Given the description of an element on the screen output the (x, y) to click on. 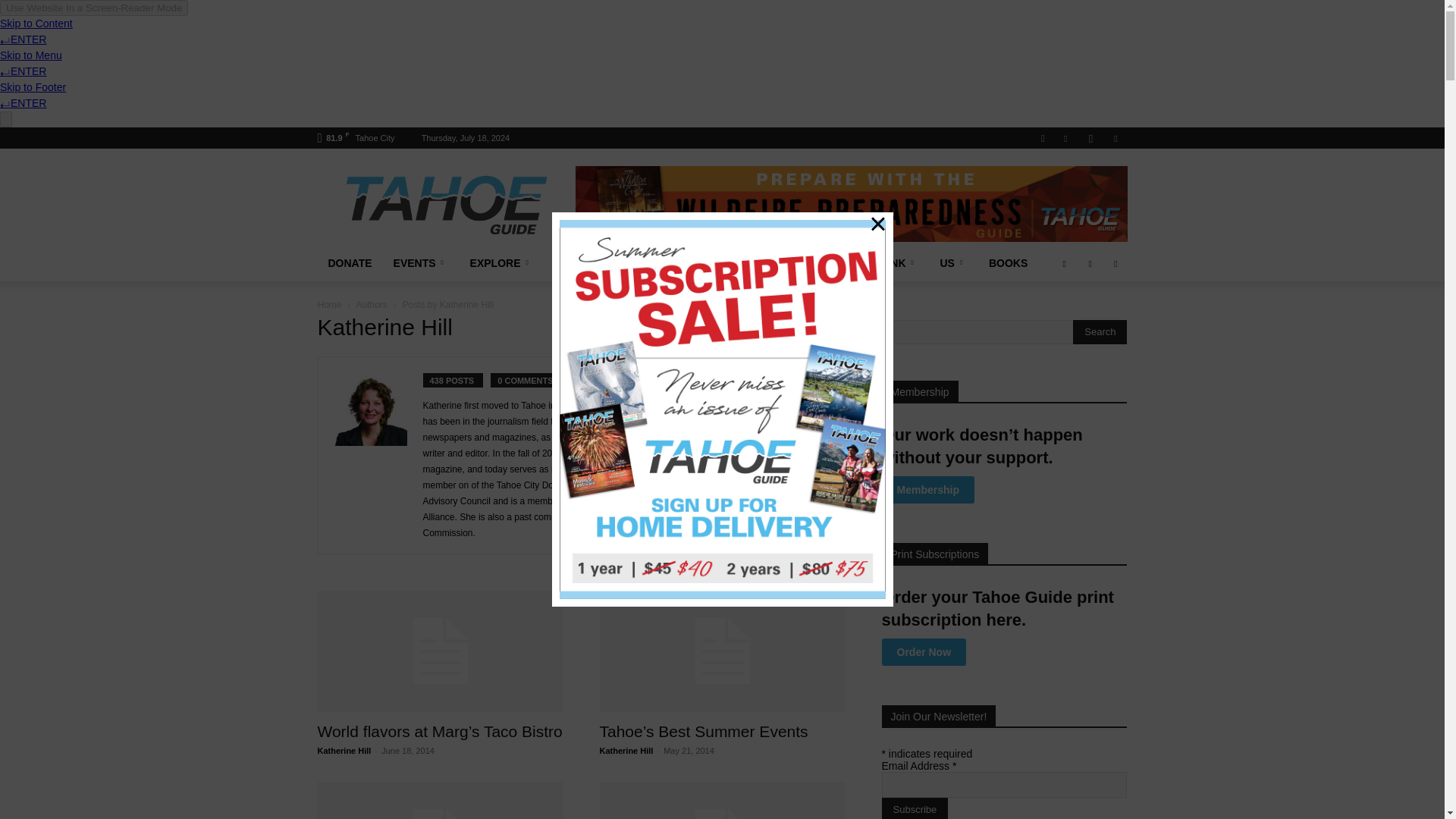
Facebook (1065, 137)
Subscribe (913, 808)
Instagram (1090, 137)
Search (1099, 331)
Tahoe Guide (445, 203)
RSS (1114, 137)
